Given the description of an element on the screen output the (x, y) to click on. 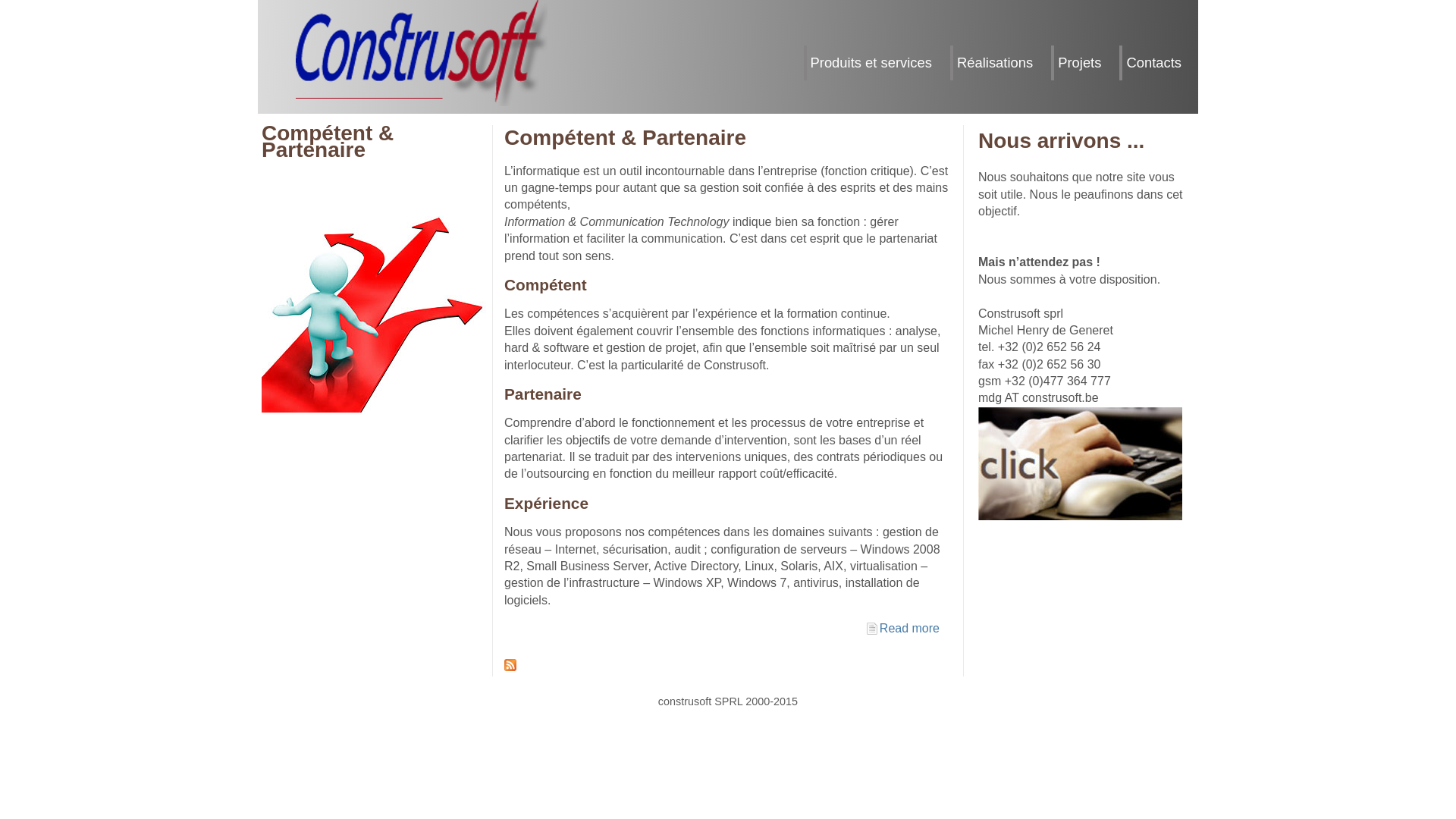
Projets Element type: text (1083, 62)
Contacts Element type: text (1157, 62)
www.construsoft.be RSS Element type: hover (510, 664)
Read more Element type: text (909, 627)
Produits et services Element type: text (875, 62)
